Given the description of an element on the screen output the (x, y) to click on. 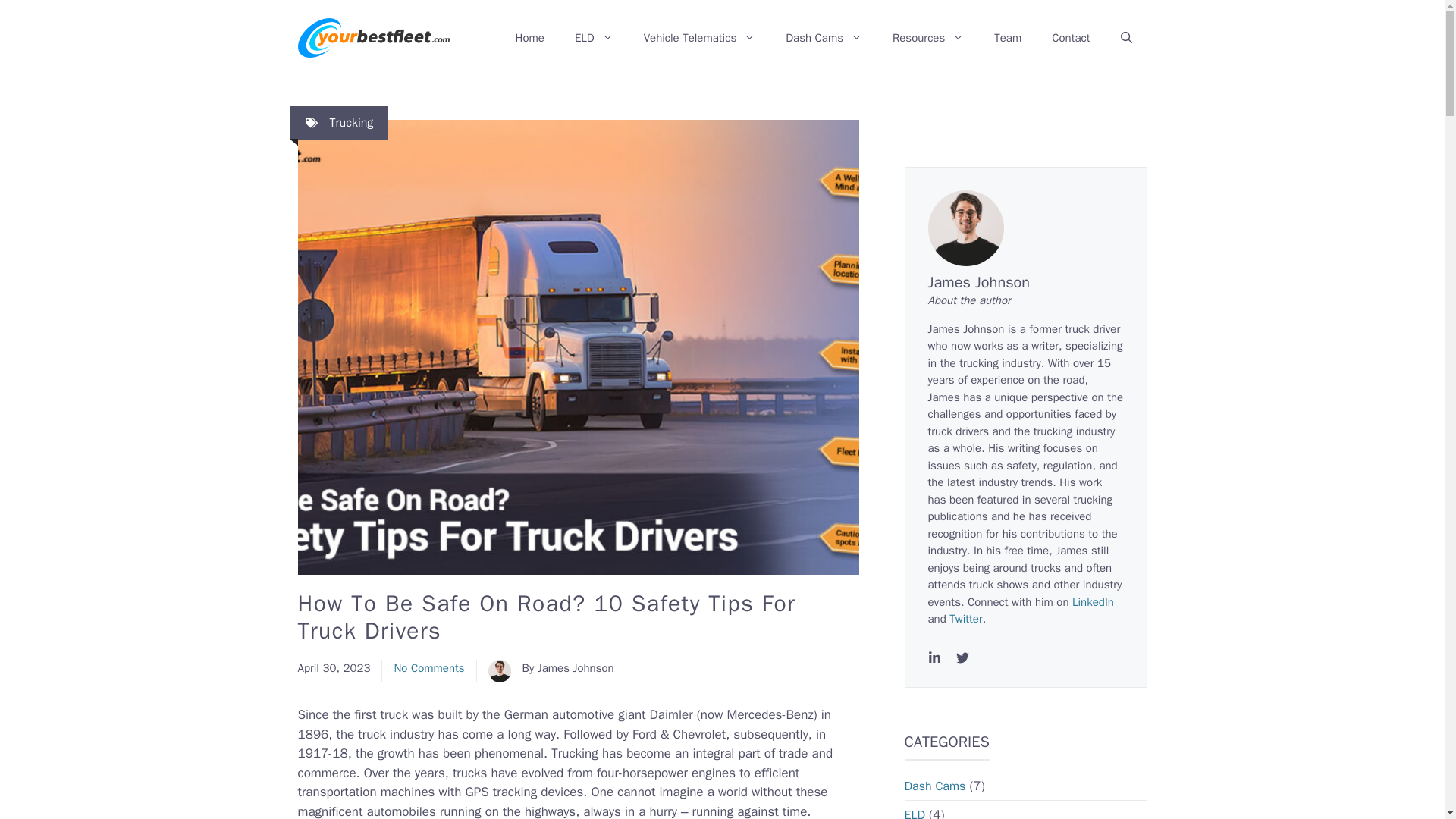
ELD (593, 37)
Home (529, 37)
Dash Cams (823, 37)
Trucking (350, 122)
Team (1007, 37)
Resources (927, 37)
No Comments (428, 667)
Vehicle Telematics (699, 37)
Contact (1070, 37)
